Given the description of an element on the screen output the (x, y) to click on. 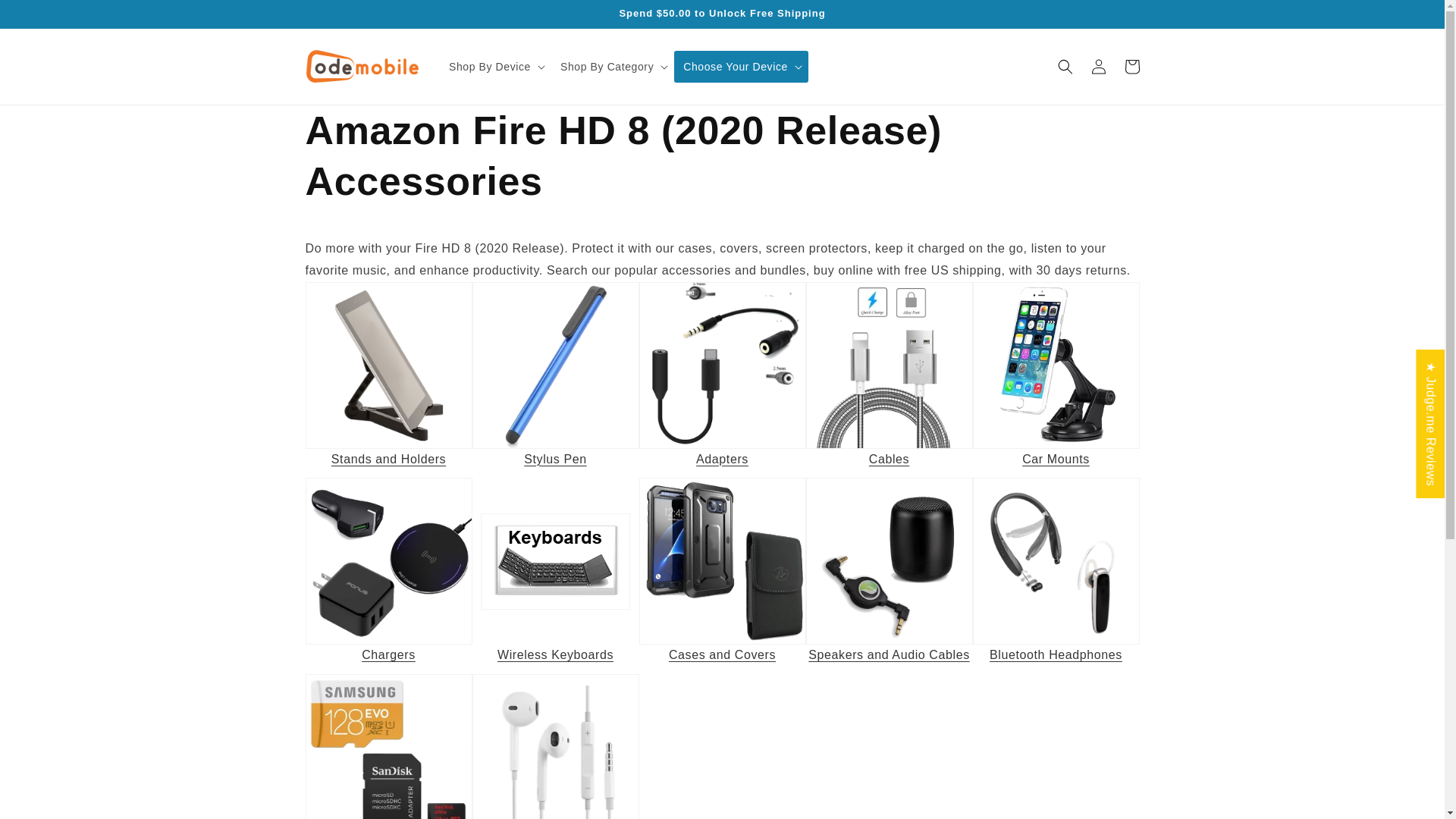
Skip to content (45, 17)
